Given the description of an element on the screen output the (x, y) to click on. 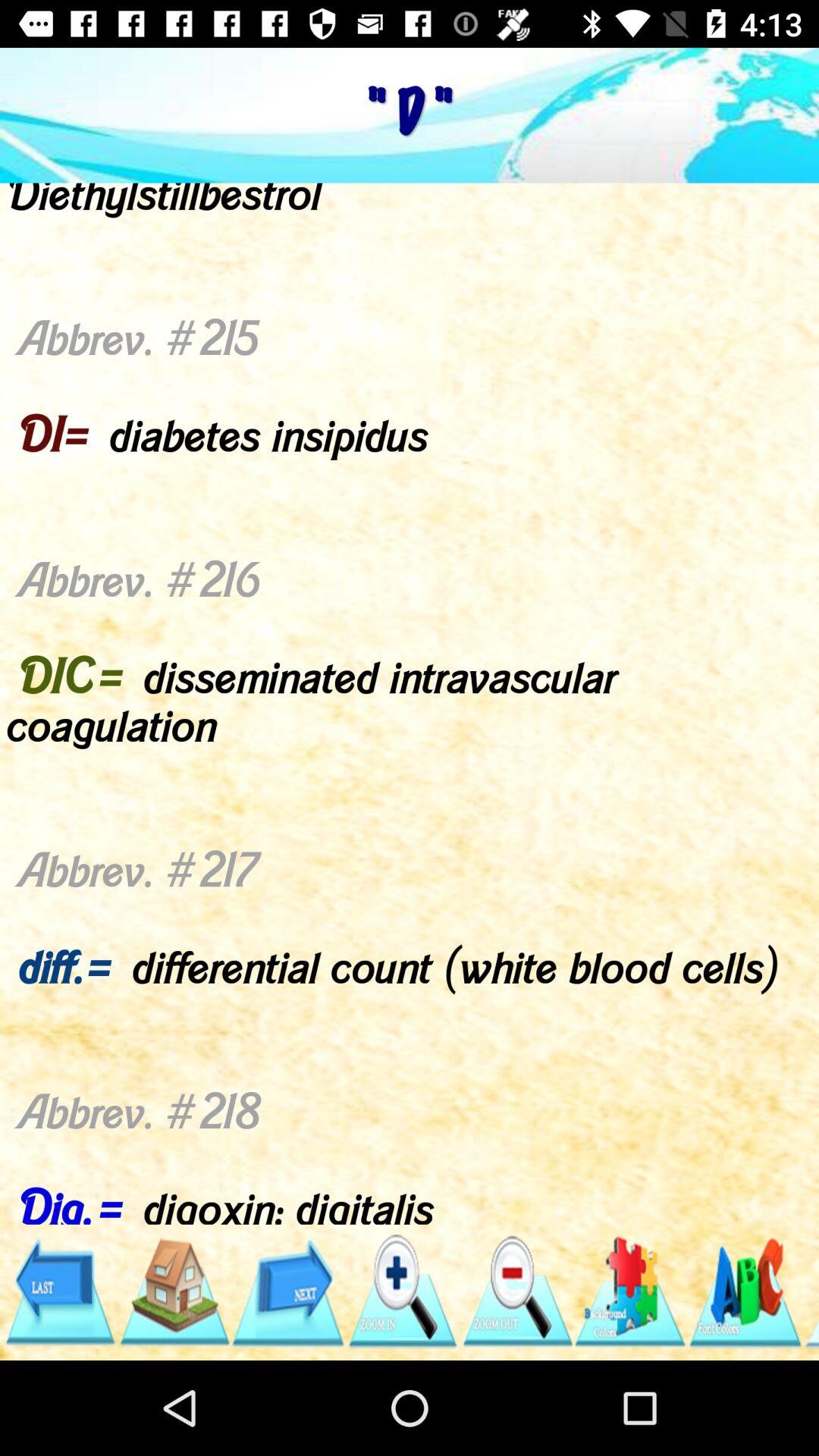
zoom (402, 1291)
